Given the description of an element on the screen output the (x, y) to click on. 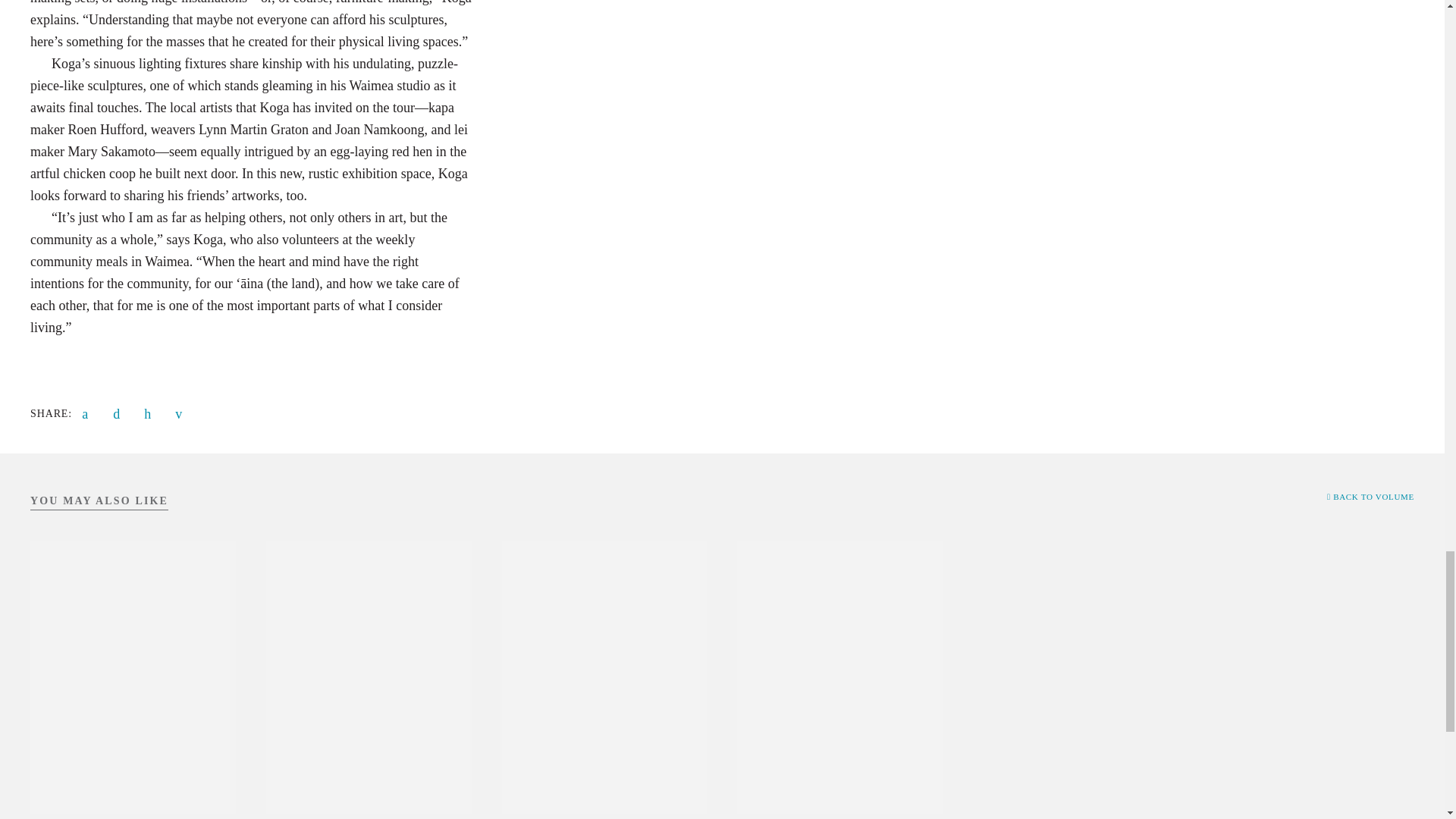
Share on Email (181, 413)
Share on Twitter (119, 413)
Share on Pinterest (150, 413)
Share on Facebook (88, 413)
